Given the description of an element on the screen output the (x, y) to click on. 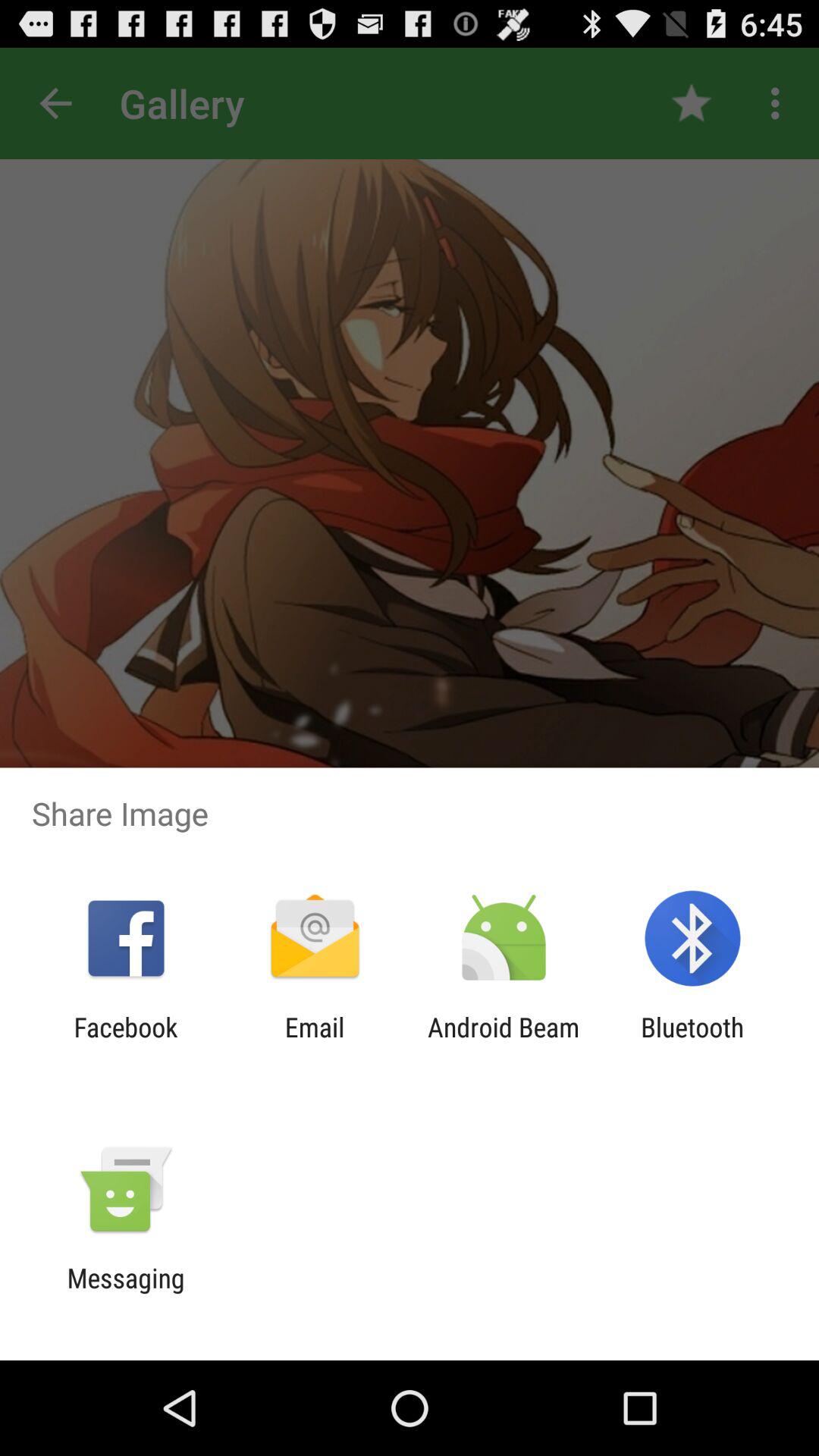
turn on app to the left of the email (125, 1042)
